Given the description of an element on the screen output the (x, y) to click on. 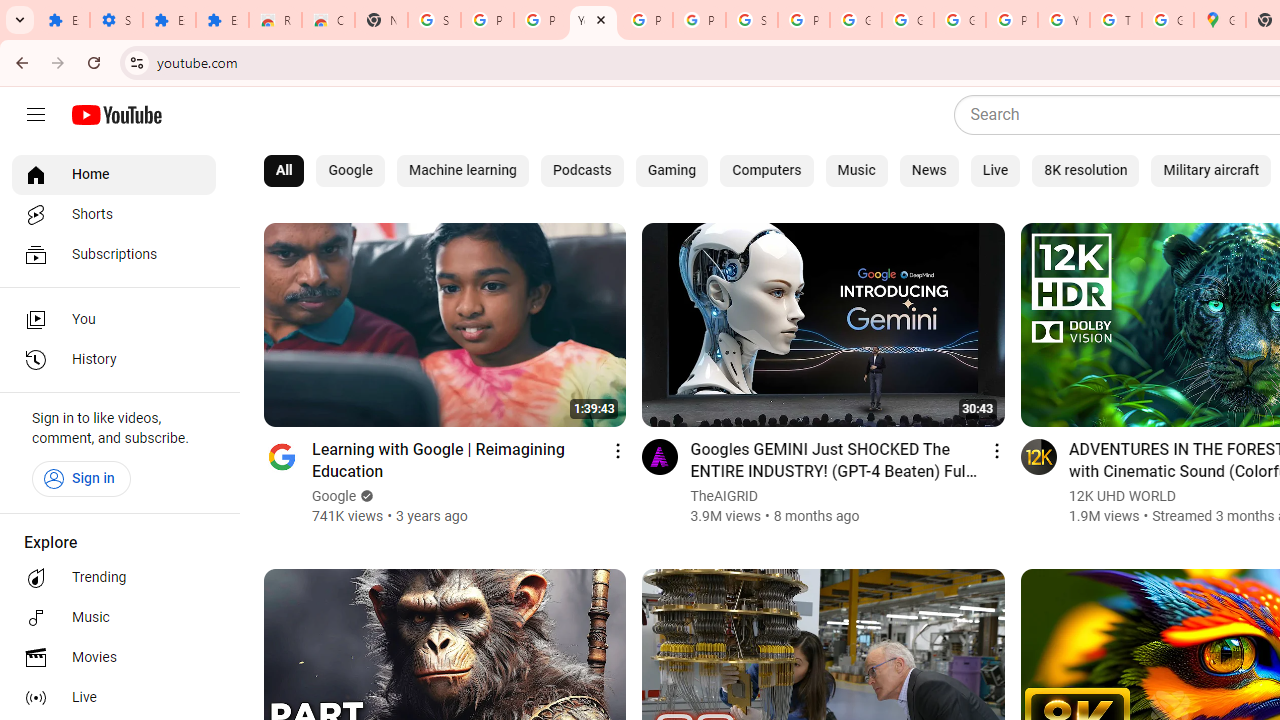
Sign in - Google Accounts (434, 20)
Military aircraft (1211, 170)
Computers (766, 170)
Machine learning (461, 170)
12K UHD WORLD (1122, 496)
Sign in (81, 478)
Action menu (996, 449)
TheAIGRID (724, 496)
Music (856, 170)
Shorts (113, 214)
News (928, 170)
